Given the description of an element on the screen output the (x, y) to click on. 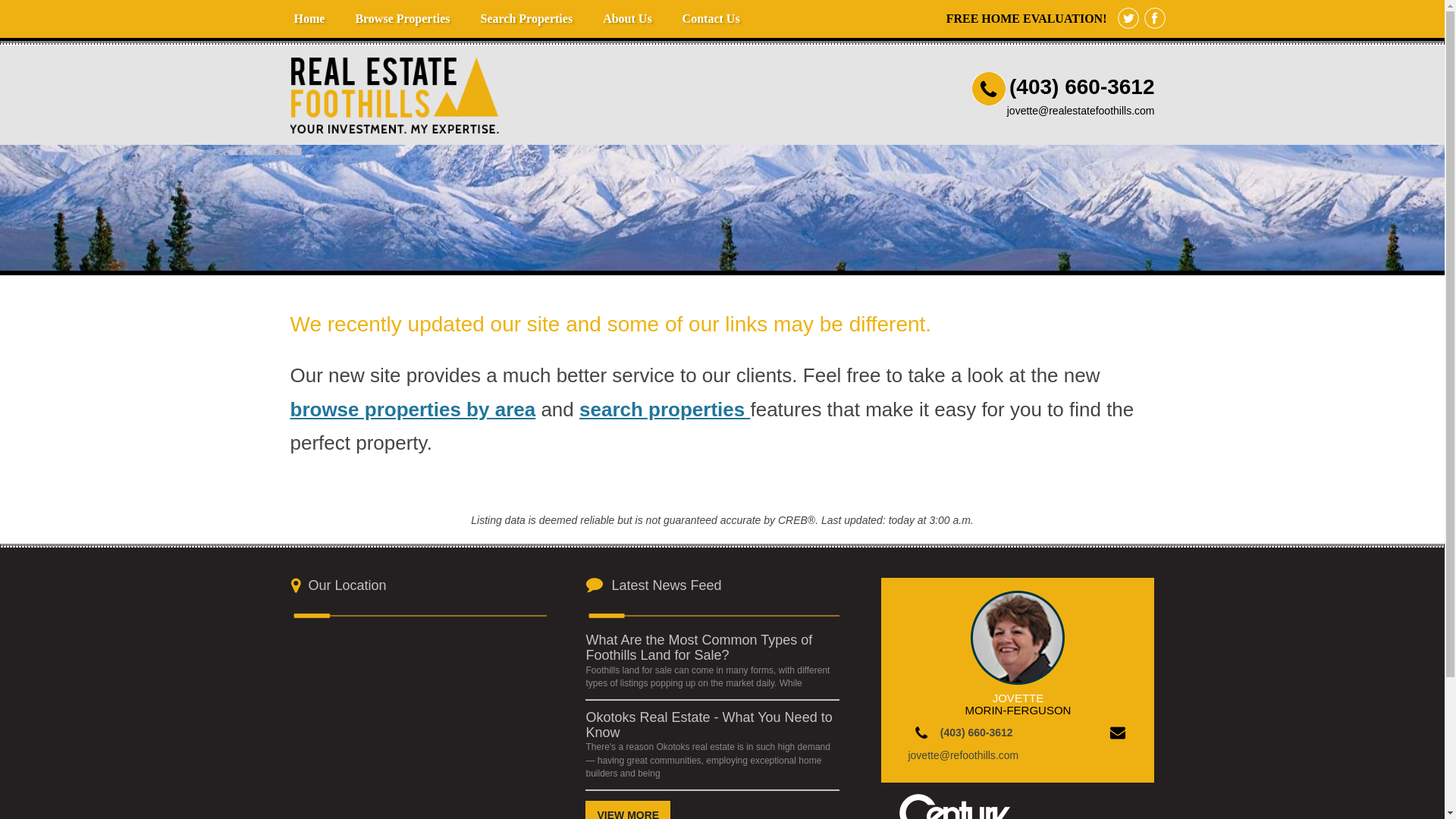
search properties (664, 409)
About Us (627, 18)
Skip to content (314, 7)
Search Properties (526, 18)
Skip to content (314, 7)
Contact Us (710, 18)
VIEW MORE (627, 809)
Browse Properties (401, 18)
browse properties by area (412, 409)
Home (309, 18)
